Given the description of an element on the screen output the (x, y) to click on. 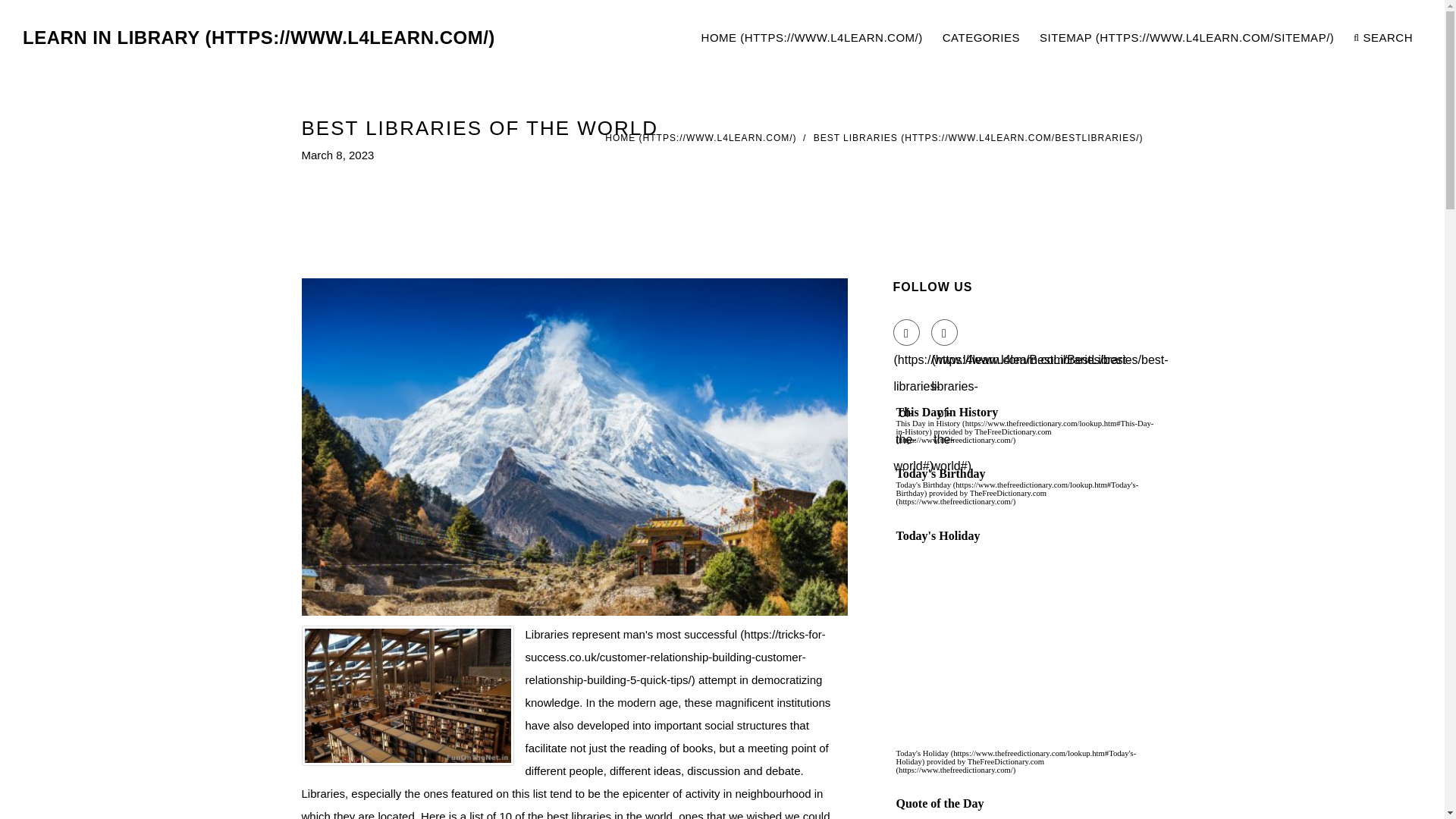
successful (674, 657)
LEARN IN LIBRARY (259, 38)
Facebook (906, 331)
BEST LIBRARIES (977, 137)
This Day in History (1025, 426)
TheFreeDictionary.com (971, 497)
TheFreeDictionary.com (970, 764)
CATEGORIES (981, 38)
HOME (700, 137)
SEARCH (1382, 38)
